Given the description of an element on the screen output the (x, y) to click on. 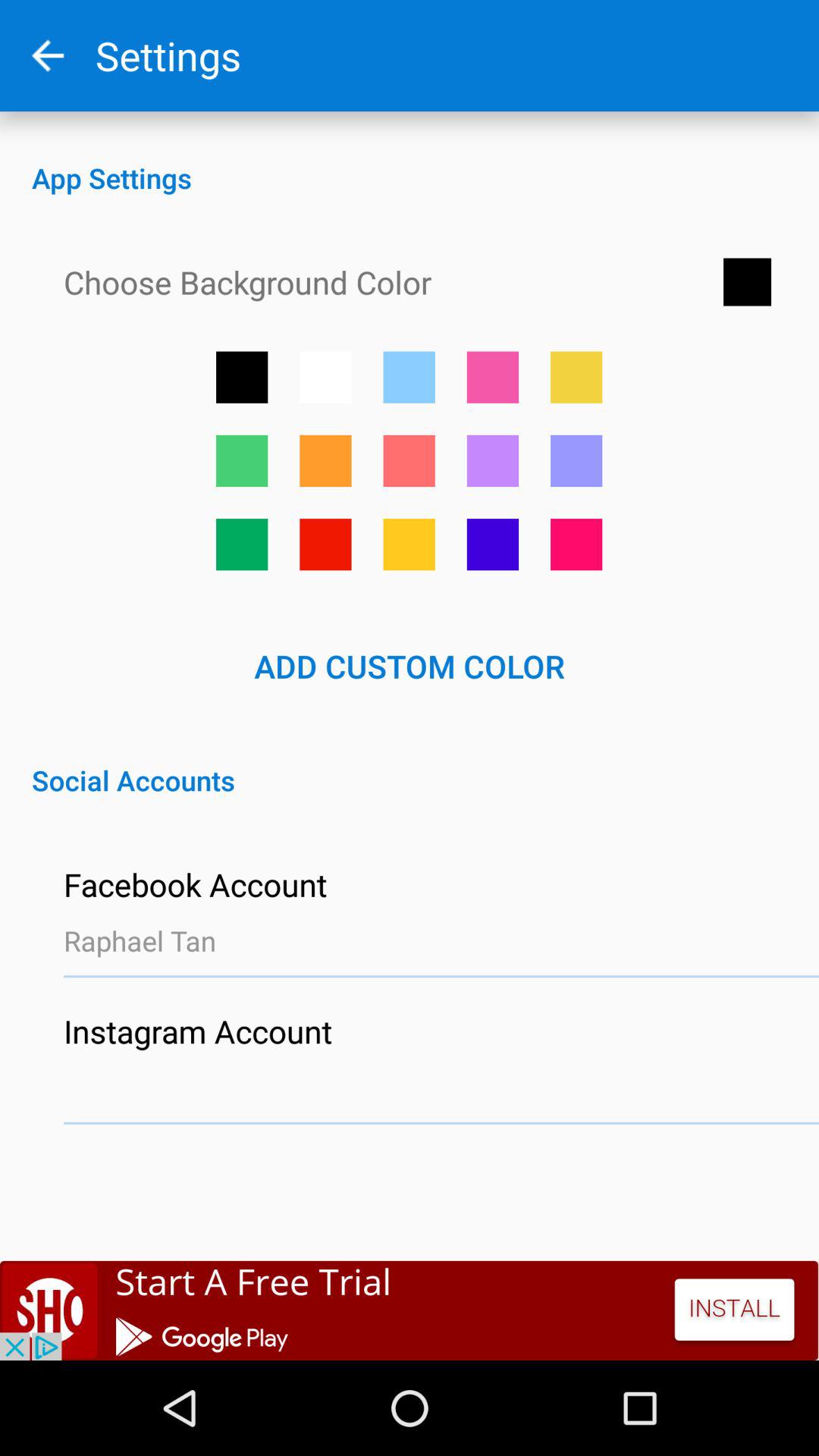
select color (576, 377)
